Given the description of an element on the screen output the (x, y) to click on. 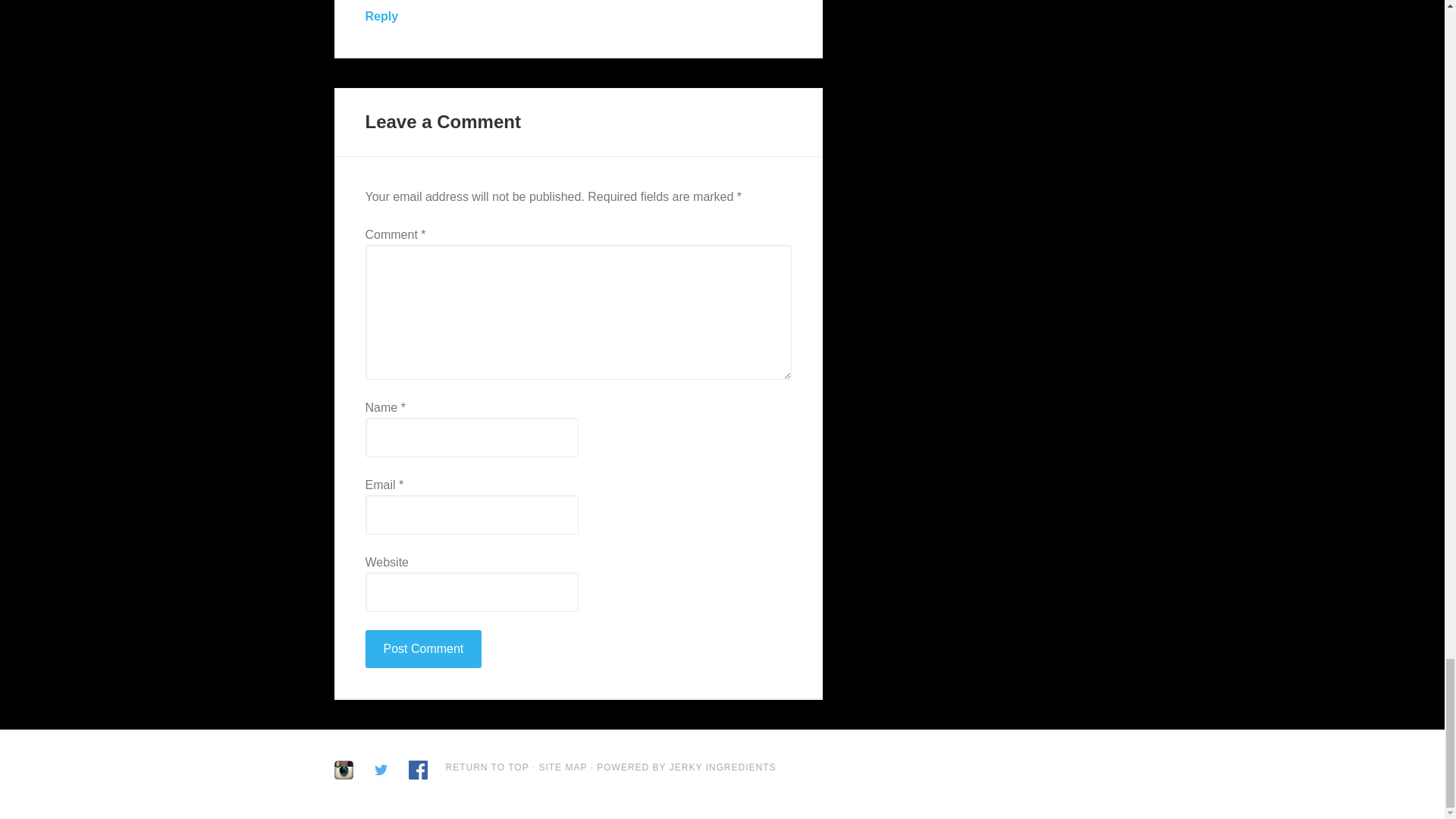
Post Comment (423, 648)
